Given the description of an element on the screen output the (x, y) to click on. 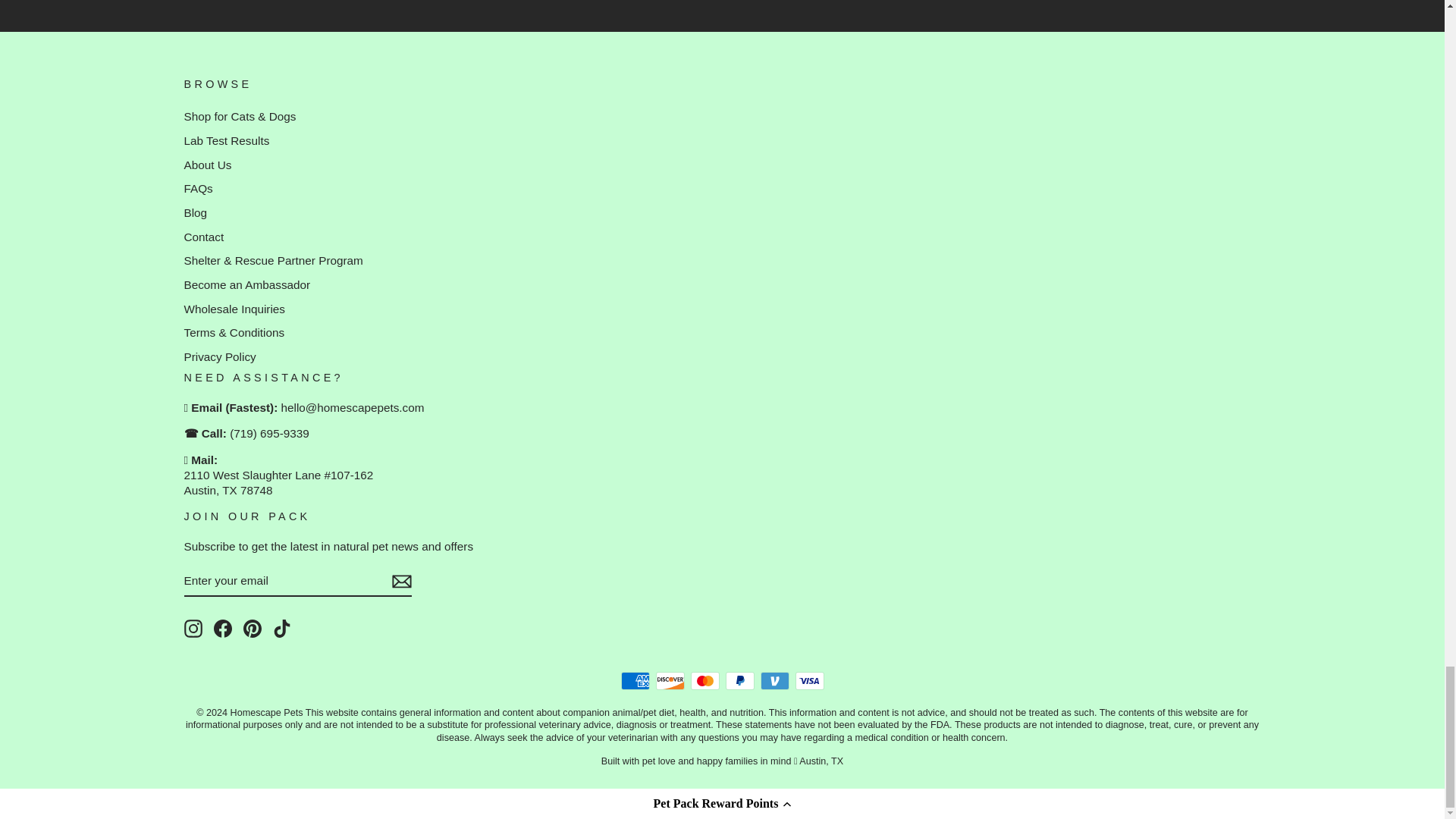
Mastercard (704, 680)
Homescape Pets on TikTok (282, 628)
Visa (809, 680)
Homescape Pets on Facebook (222, 628)
Homescape Pets on Pinterest (251, 628)
Venmo (774, 680)
Discover (669, 680)
American Express (634, 680)
PayPal (739, 680)
Homescape Pets on Instagram (192, 628)
